Given the description of an element on the screen output the (x, y) to click on. 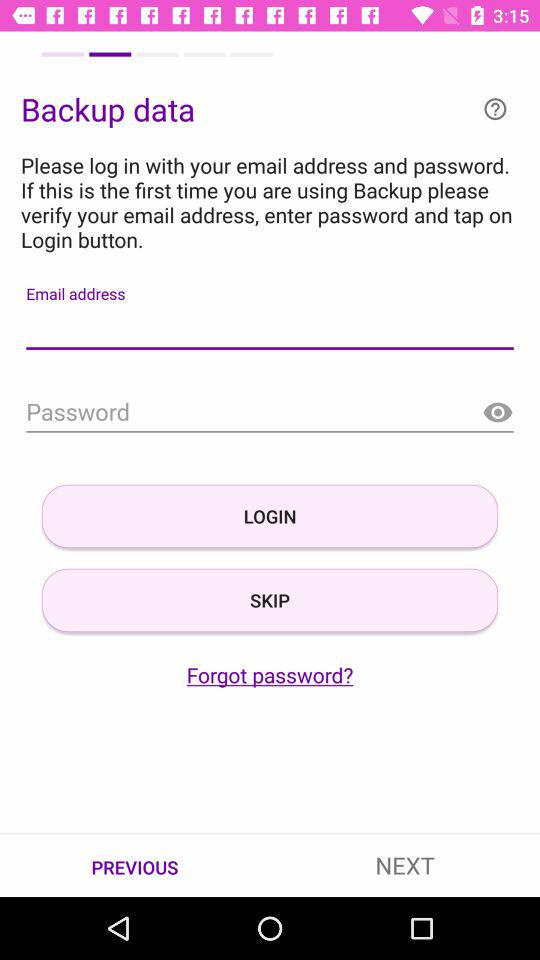
make password visible (498, 412)
